Given the description of an element on the screen output the (x, y) to click on. 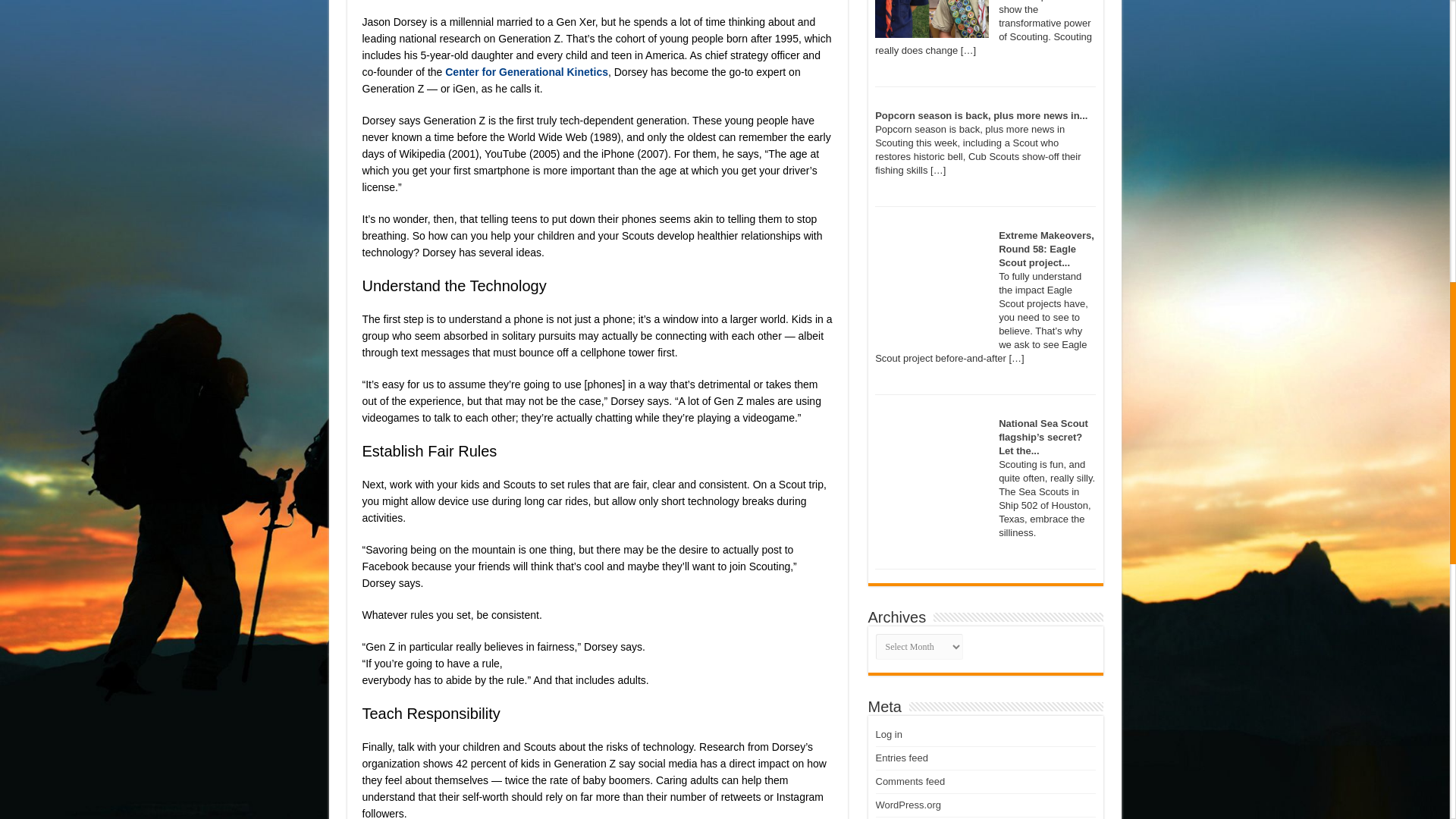
Center for Generational Kinetics (526, 71)
Scouts Then and Now: Chapter 28 (931, 18)
Scroll To Top (1427, 60)
